Given the description of an element on the screen output the (x, y) to click on. 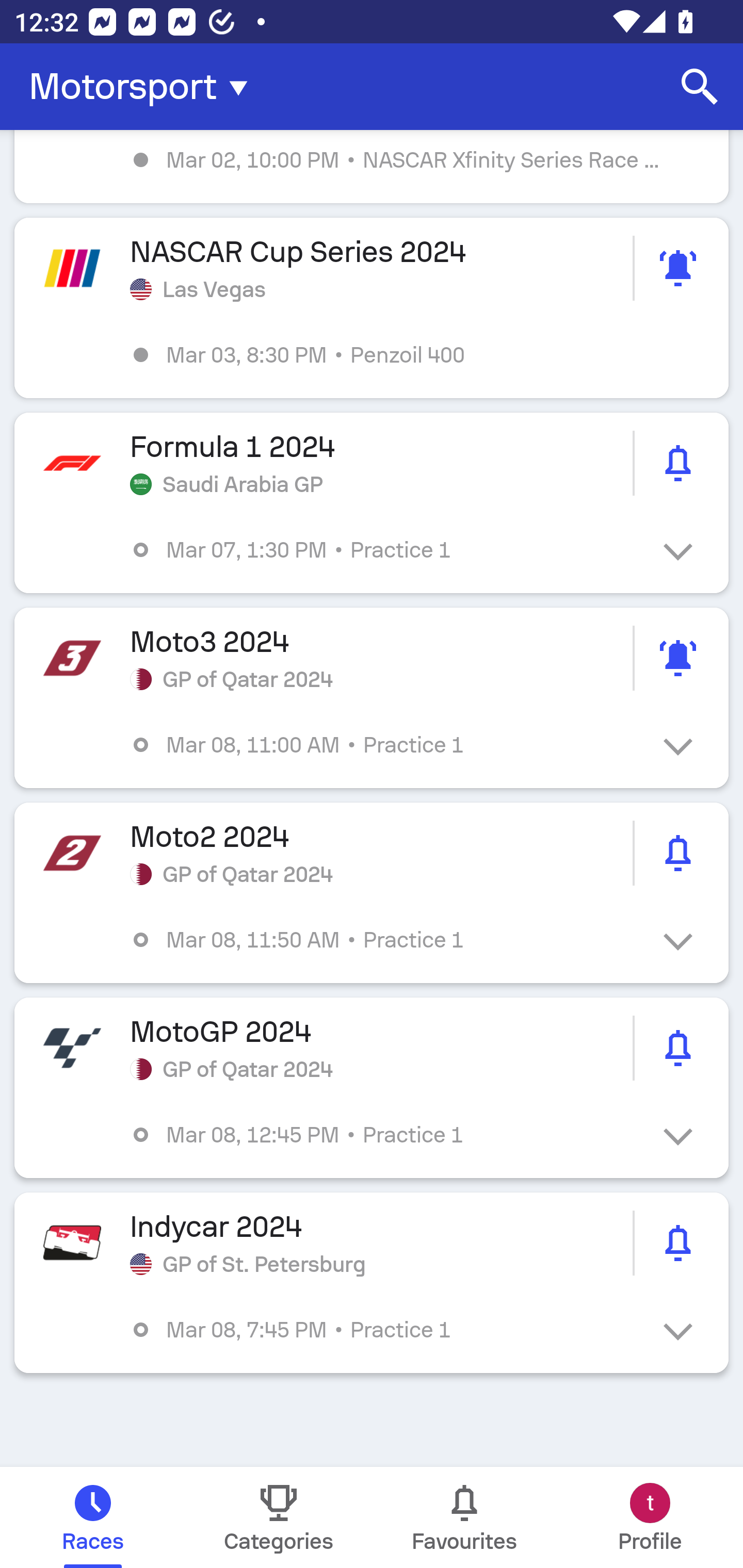
Motorsport (144, 86)
Search (699, 86)
Mar 07, 1:30 PM • Practice 1 (385, 549)
Mar 08, 11:00 AM • Practice 1 (385, 744)
Mar 08, 11:50 AM • Practice 1 (385, 939)
Mar 08, 12:45 PM • Practice 1 (385, 1134)
Mar 08, 7:45 PM • Practice 1 (385, 1329)
Categories (278, 1517)
Favourites (464, 1517)
Profile (650, 1517)
